Given the description of an element on the screen output the (x, y) to click on. 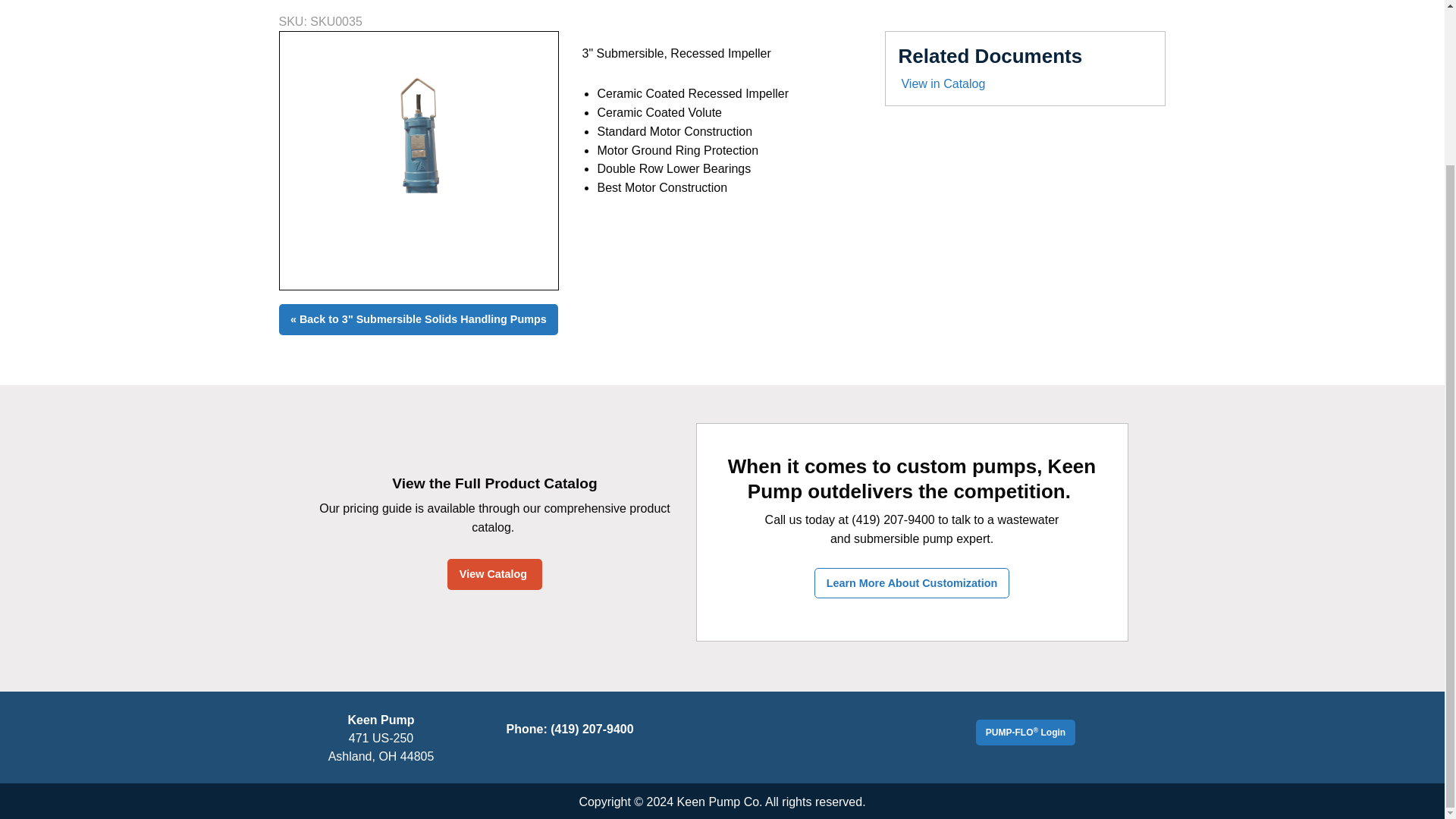
View in Catalog (1025, 84)
View Catalog  (493, 573)
Learn More About Customization (911, 583)
